Given the description of an element on the screen output the (x, y) to click on. 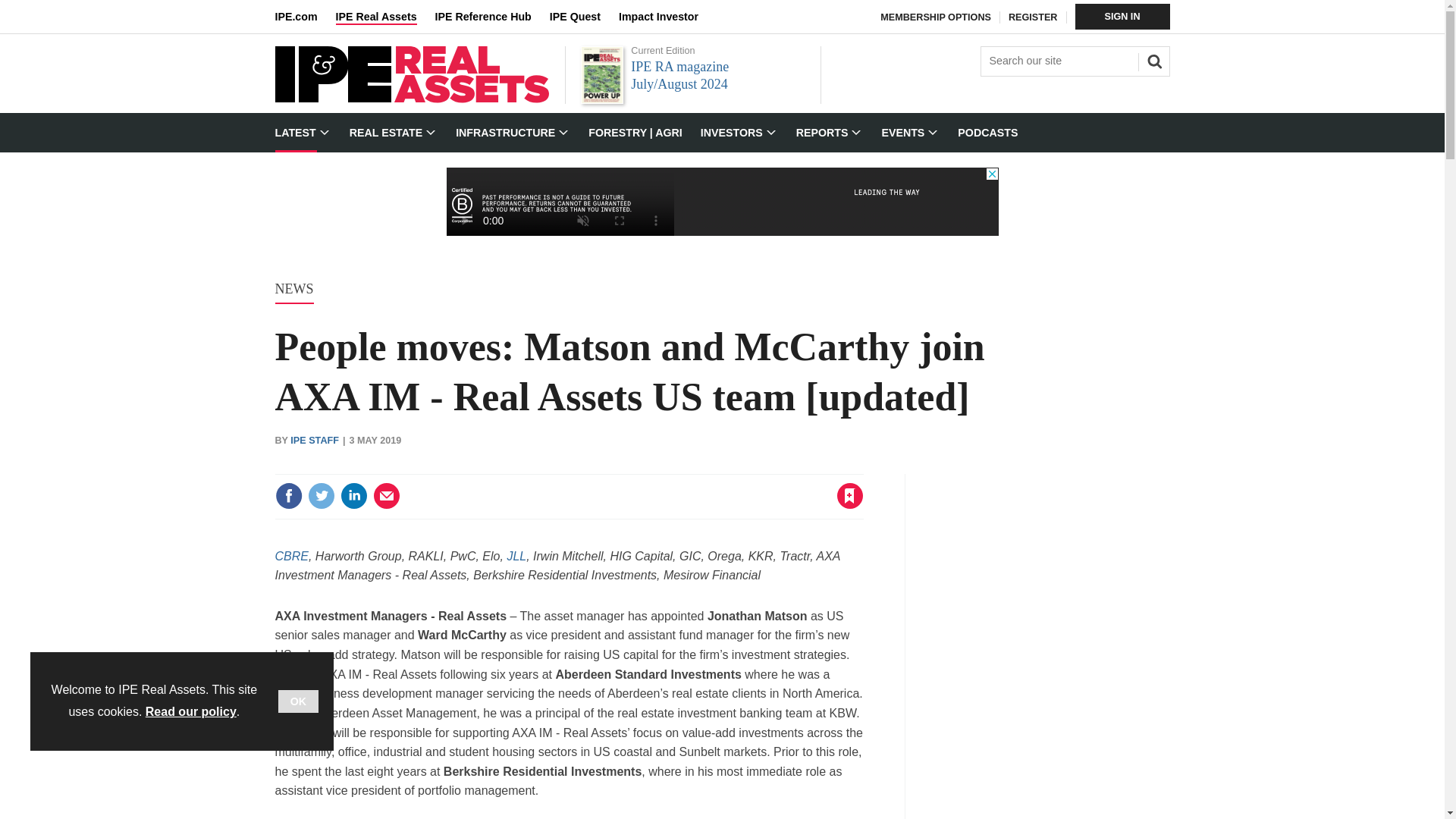
IPE Quest (583, 16)
REGISTER (1033, 17)
Real Assets (411, 98)
Read our policy (190, 711)
Email this article (386, 495)
MEMBERSHIP OPTIONS (935, 17)
Share this on Linked in (352, 495)
IPE Reference Hub (491, 16)
IPE Reference Hub (491, 16)
IPE Quest (583, 16)
SIGN IN (1122, 16)
IPE.com (304, 16)
Impact Investor (667, 16)
OK (298, 701)
SEARCH (1152, 59)
